Given the description of an element on the screen output the (x, y) to click on. 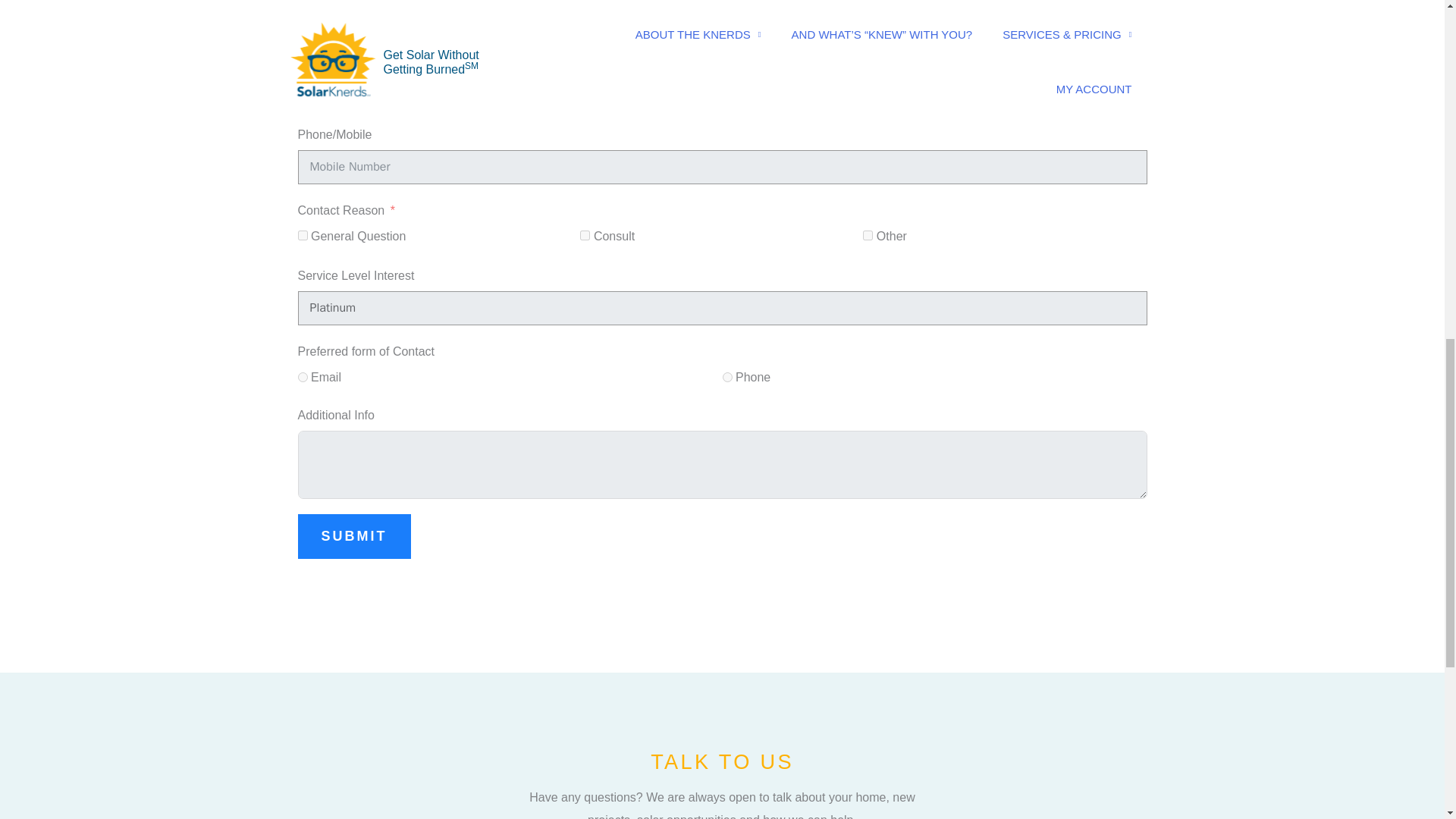
Platinum (722, 308)
Email (302, 377)
Phone (727, 377)
General Question (302, 235)
Other (867, 235)
Consult (584, 235)
